Given the description of an element on the screen output the (x, y) to click on. 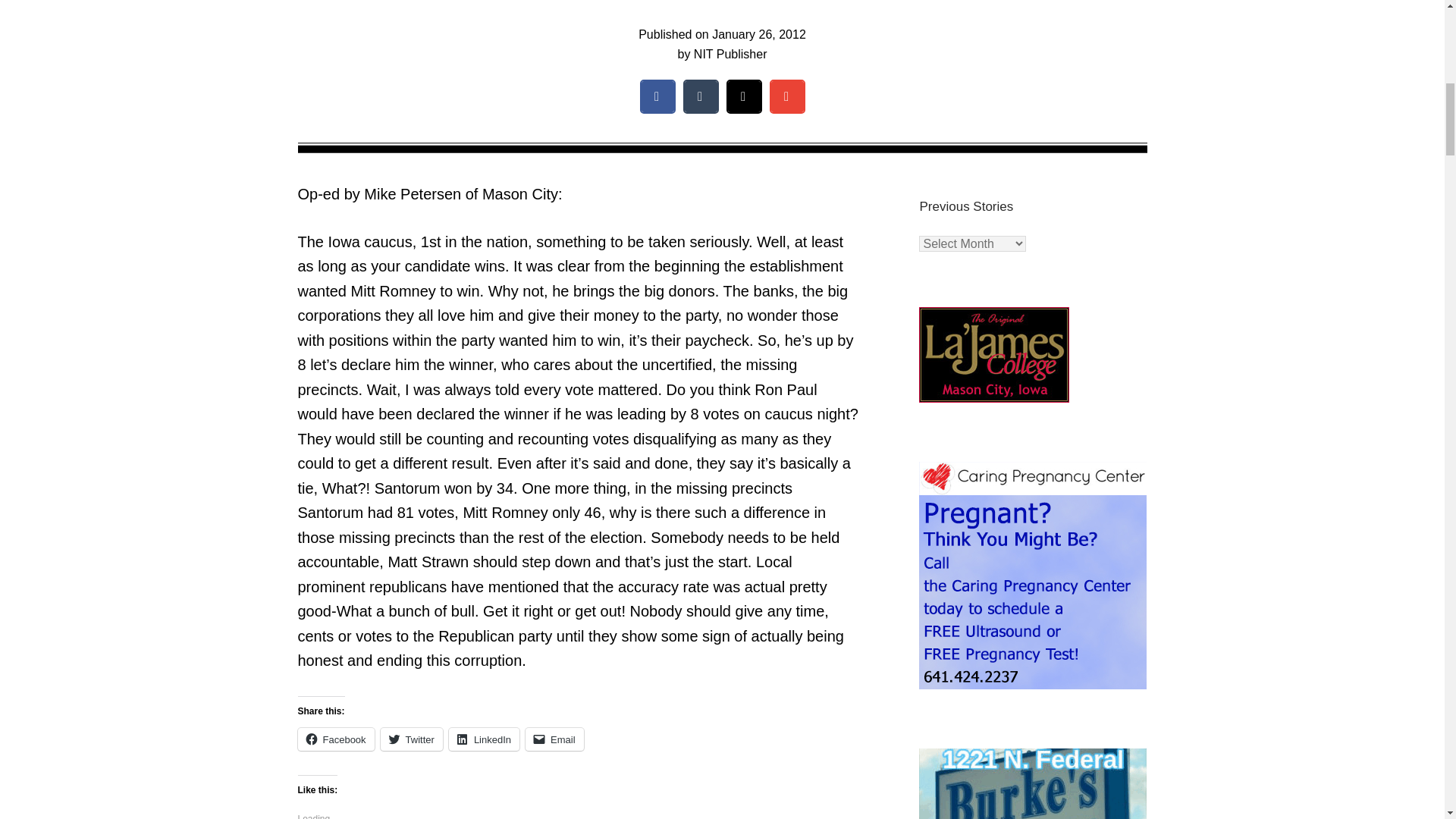
Click to email a link to a friend (554, 739)
Email (554, 739)
Facebook (335, 739)
LinkedIn (483, 739)
Click to share on LinkedIn (483, 739)
Click to share on Twitter (411, 739)
Twitter (411, 739)
Click to share on Facebook (335, 739)
